Given the description of an element on the screen output the (x, y) to click on. 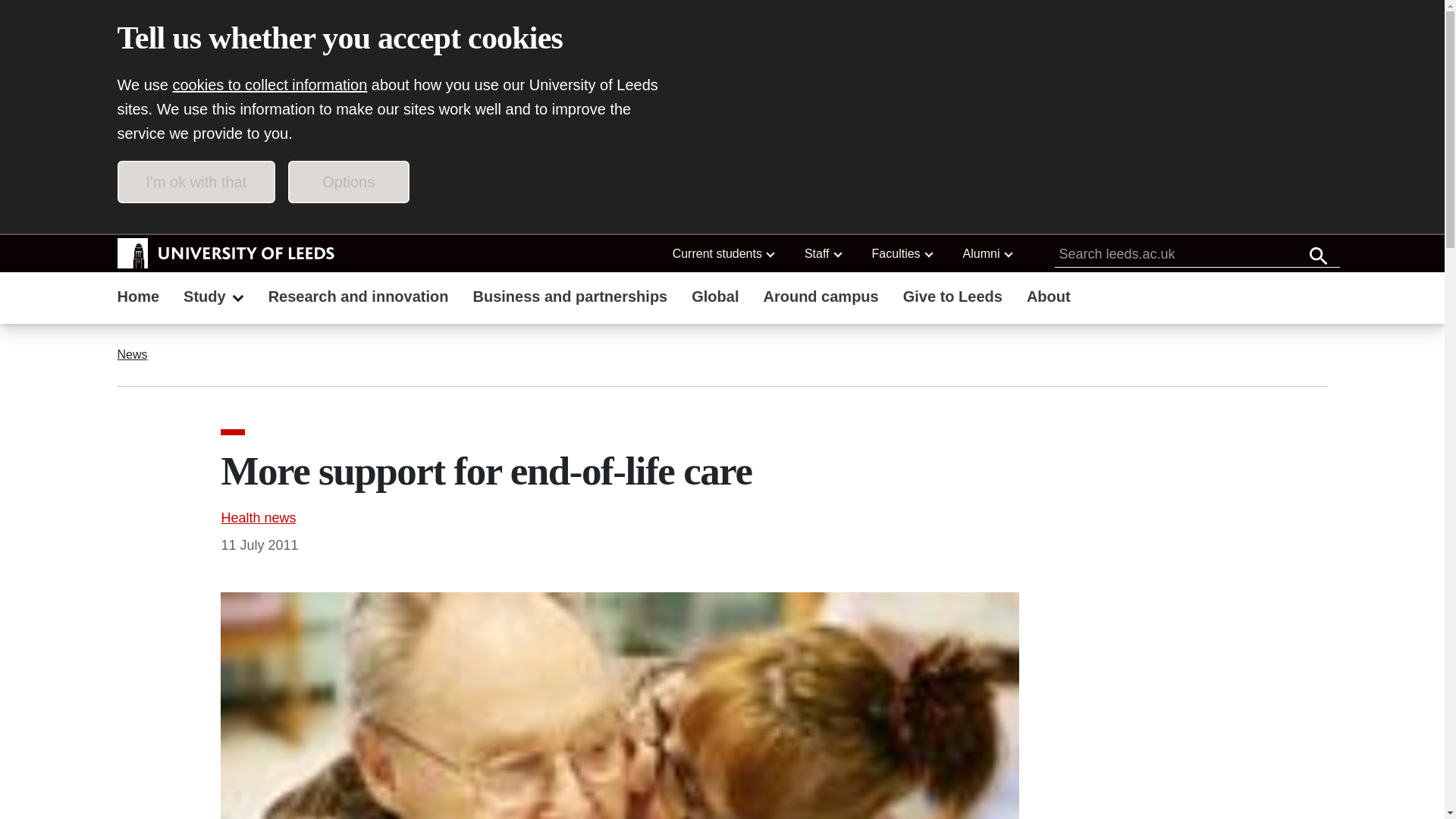
Alumni (986, 253)
Staff (822, 253)
Skip to main content (202, 216)
Study (213, 297)
Research and innovation (358, 297)
Faculties (902, 253)
Current students (723, 253)
Home (137, 297)
I'm ok with that (195, 181)
Options (348, 181)
Global (715, 297)
cookies to collect information (270, 84)
Business and partnerships (569, 297)
